Given the description of an element on the screen output the (x, y) to click on. 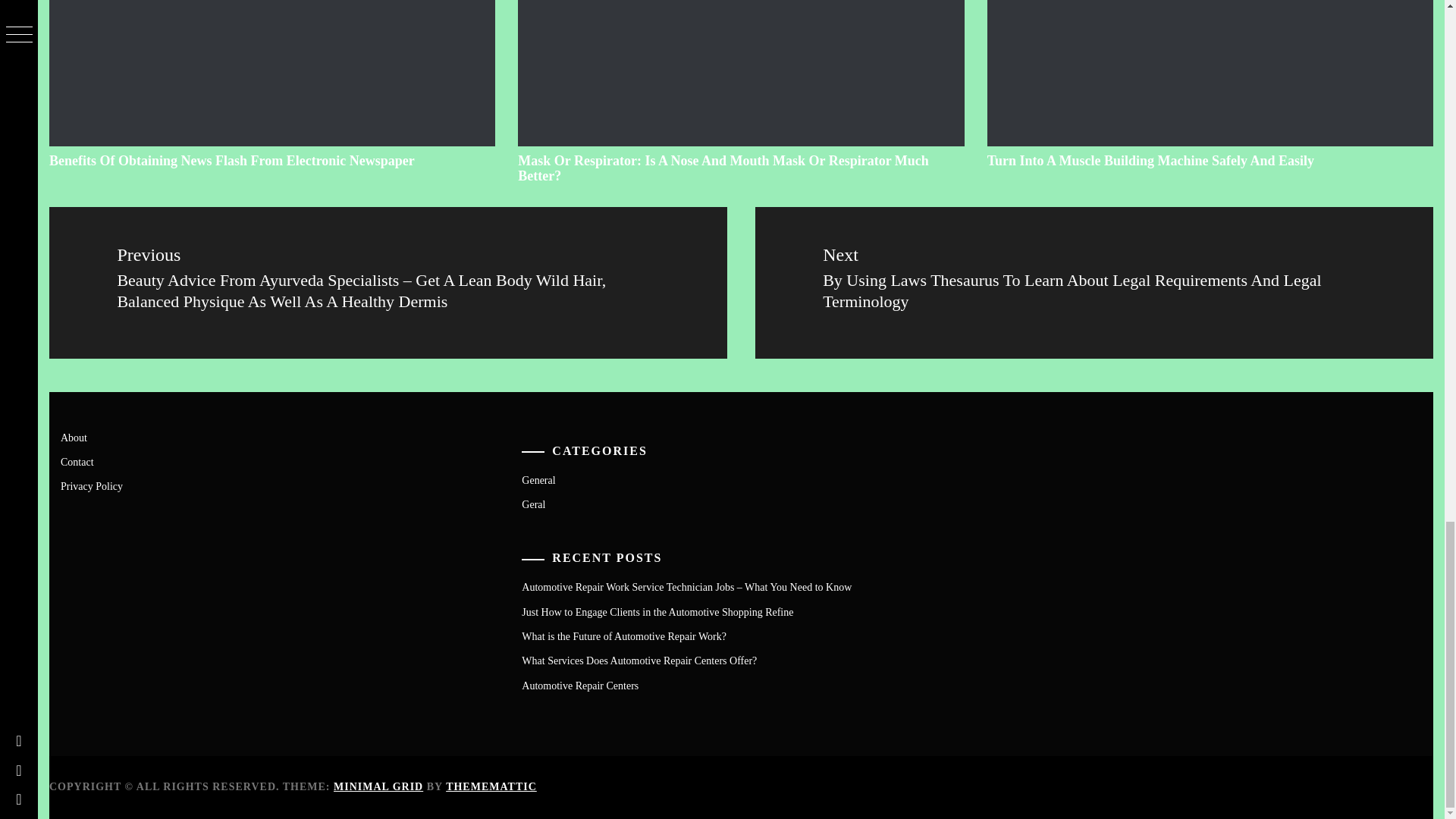
Geral (532, 504)
Just How to Engage Clients in the Automotive Shopping Refine (657, 612)
Benefits Of Obtaining News Flash From Electronic Newspaper (231, 160)
Privacy Policy (91, 486)
Contact (77, 461)
What is the Future of Automotive Repair Work? (623, 636)
General (537, 479)
What Services Does Automotive Repair Centers Offer? (639, 660)
